Given the description of an element on the screen output the (x, y) to click on. 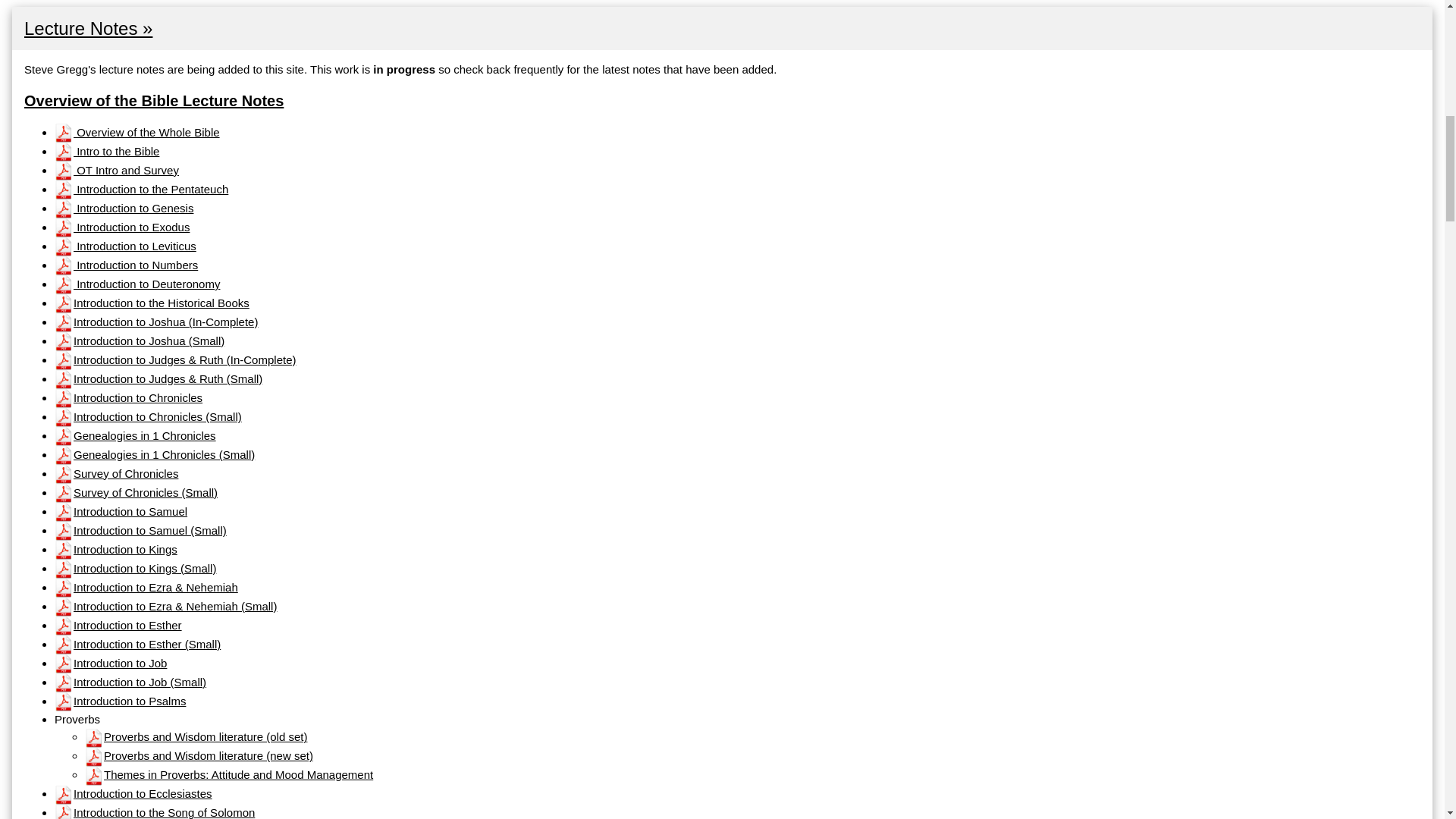
OT Intro and Survey (117, 169)
Introduction to Leviticus (125, 245)
Introduction to Exodus (122, 226)
Introduction to the Pentateuch (141, 188)
Introduction to Numbers (126, 264)
Introduction to the Historical Books (151, 302)
Genealogies in 1 Chronicles (135, 435)
Introduction to Deuteronomy (137, 283)
Introduction to Chronicles (128, 397)
Intro to the Bible (106, 151)
Overview of the Whole Bible (137, 132)
Introduction to Genesis (124, 207)
